Given the description of an element on the screen output the (x, y) to click on. 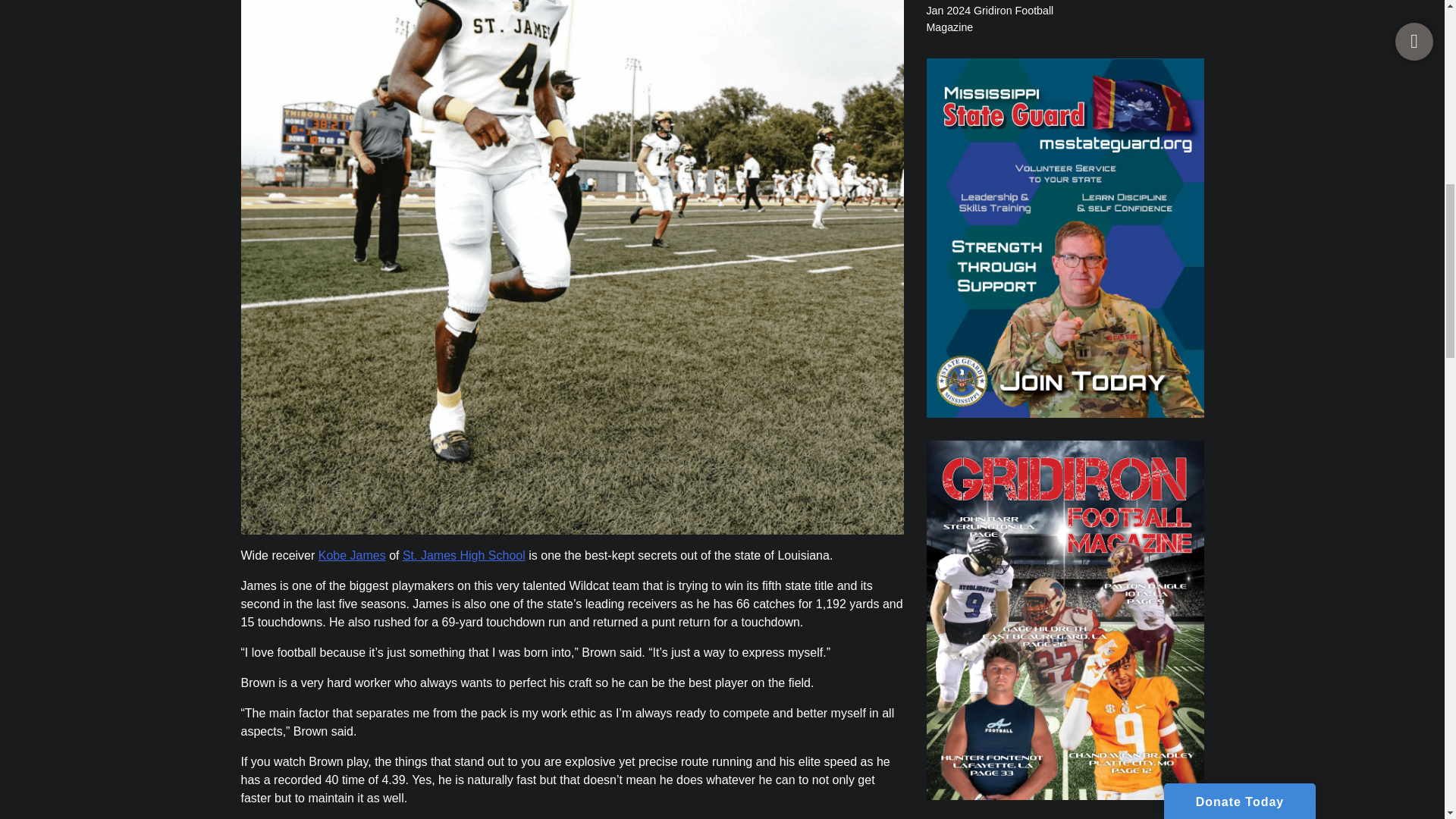
Kobe James (351, 554)
St. James High School (464, 554)
